Given the description of an element on the screen output the (x, y) to click on. 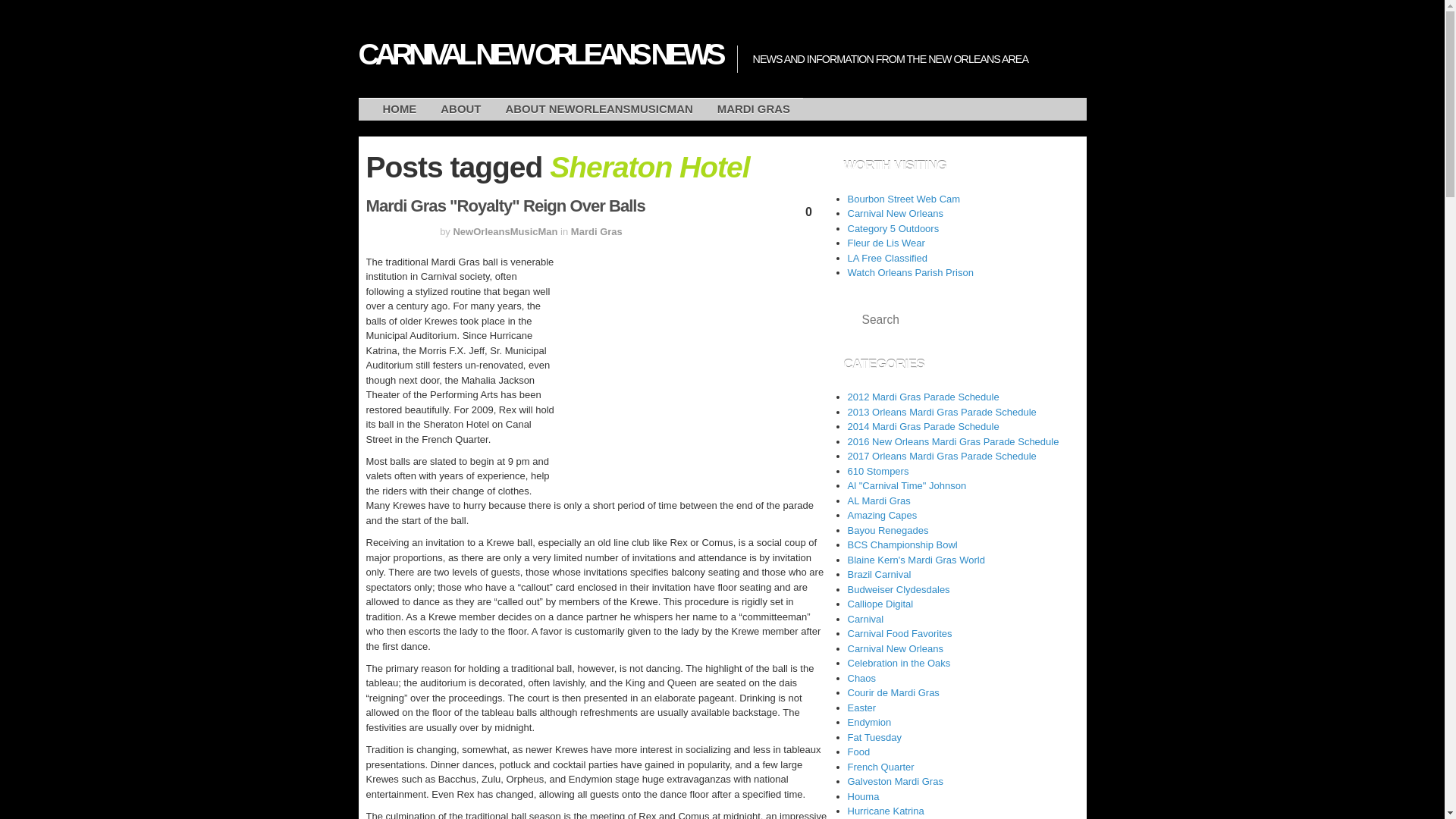
Category 5 Outdoors (893, 228)
ABOUT (460, 109)
Mardi Gras (596, 231)
2017 Orleans Mardi Gras Parade Schedule (941, 455)
2013 Orleans Mardi Gras Parade Schedule (941, 411)
Local NOLA company, Fleur de Lis  clothing and music (885, 242)
2014 Mardi Gras Parade Schedule (922, 426)
Bayou Renegades (887, 530)
Amazing Capes (882, 514)
